Given the description of an element on the screen output the (x, y) to click on. 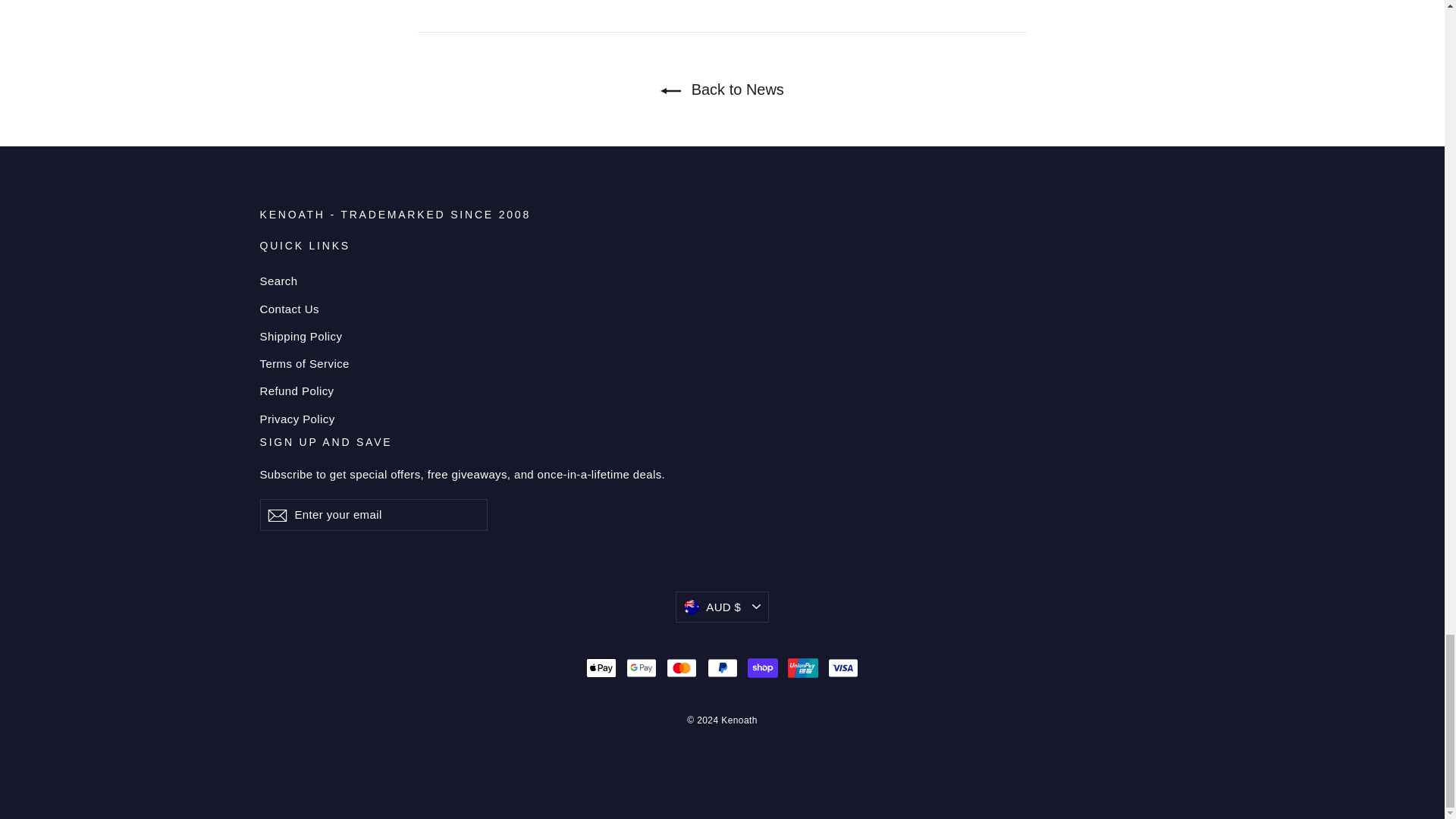
Google Pay (641, 667)
Shop Pay (762, 667)
Visa (843, 667)
Union Pay (802, 667)
Apple Pay (600, 667)
Mastercard (681, 667)
PayPal (721, 667)
